Given the description of an element on the screen output the (x, y) to click on. 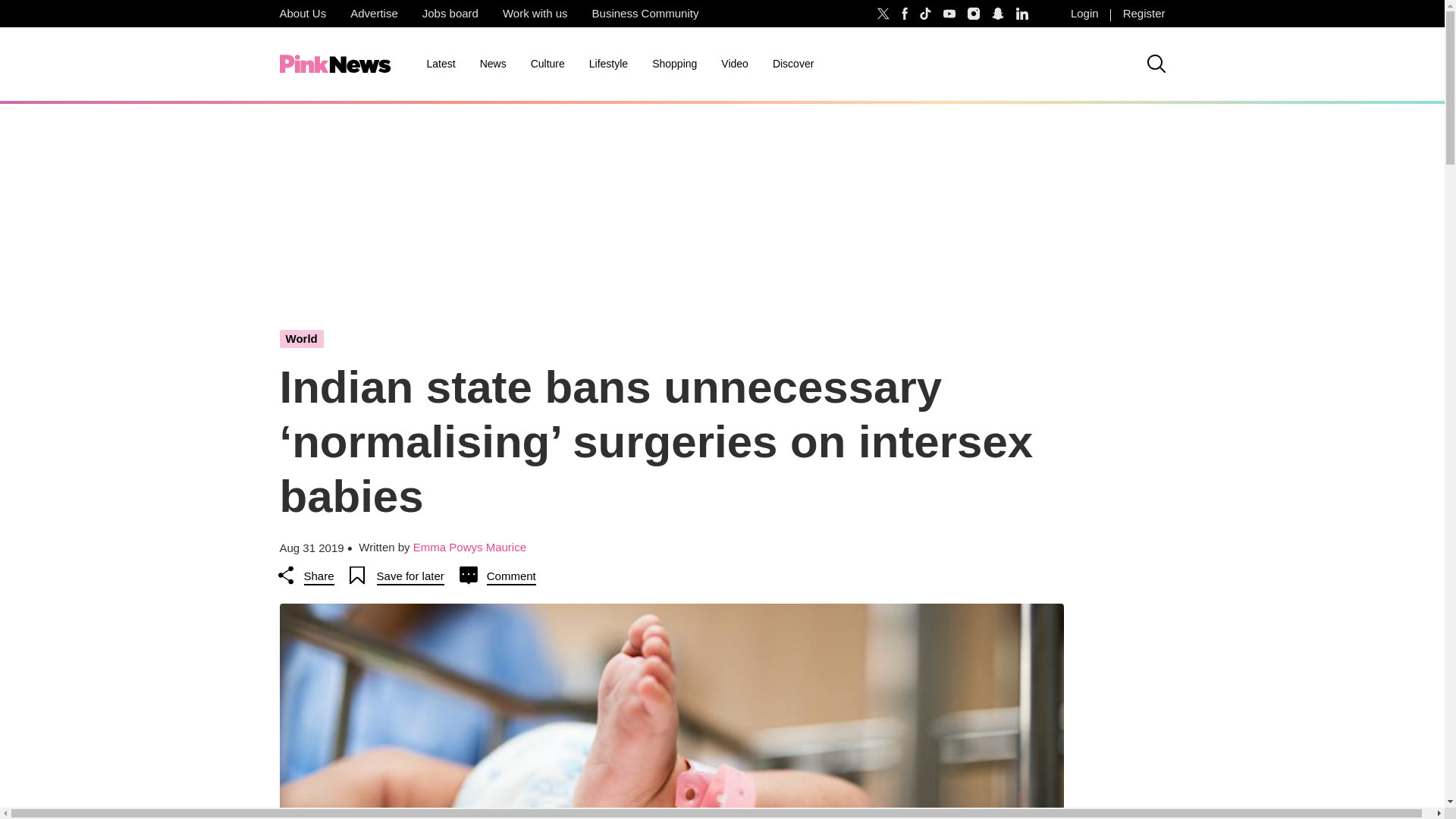
Work with us (534, 13)
About Us (301, 13)
Login (1084, 13)
Culture (547, 63)
News (493, 63)
Business Community (645, 13)
Lifestyle (608, 63)
Follow PinkNews on LinkedIn (1021, 13)
Advertise (373, 13)
Register (1143, 13)
